Given the description of an element on the screen output the (x, y) to click on. 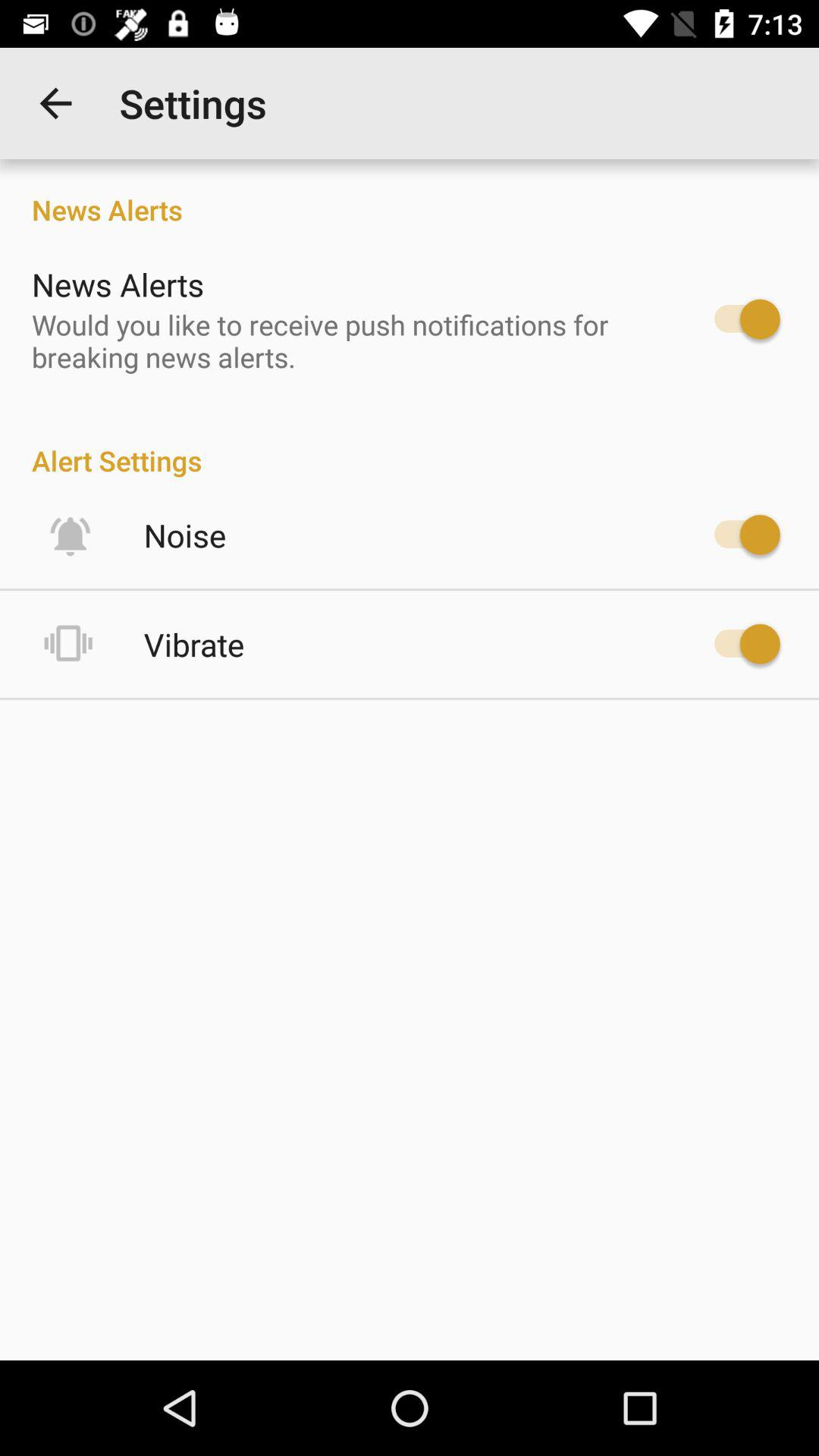
press the noise item (184, 534)
